Given the description of an element on the screen output the (x, y) to click on. 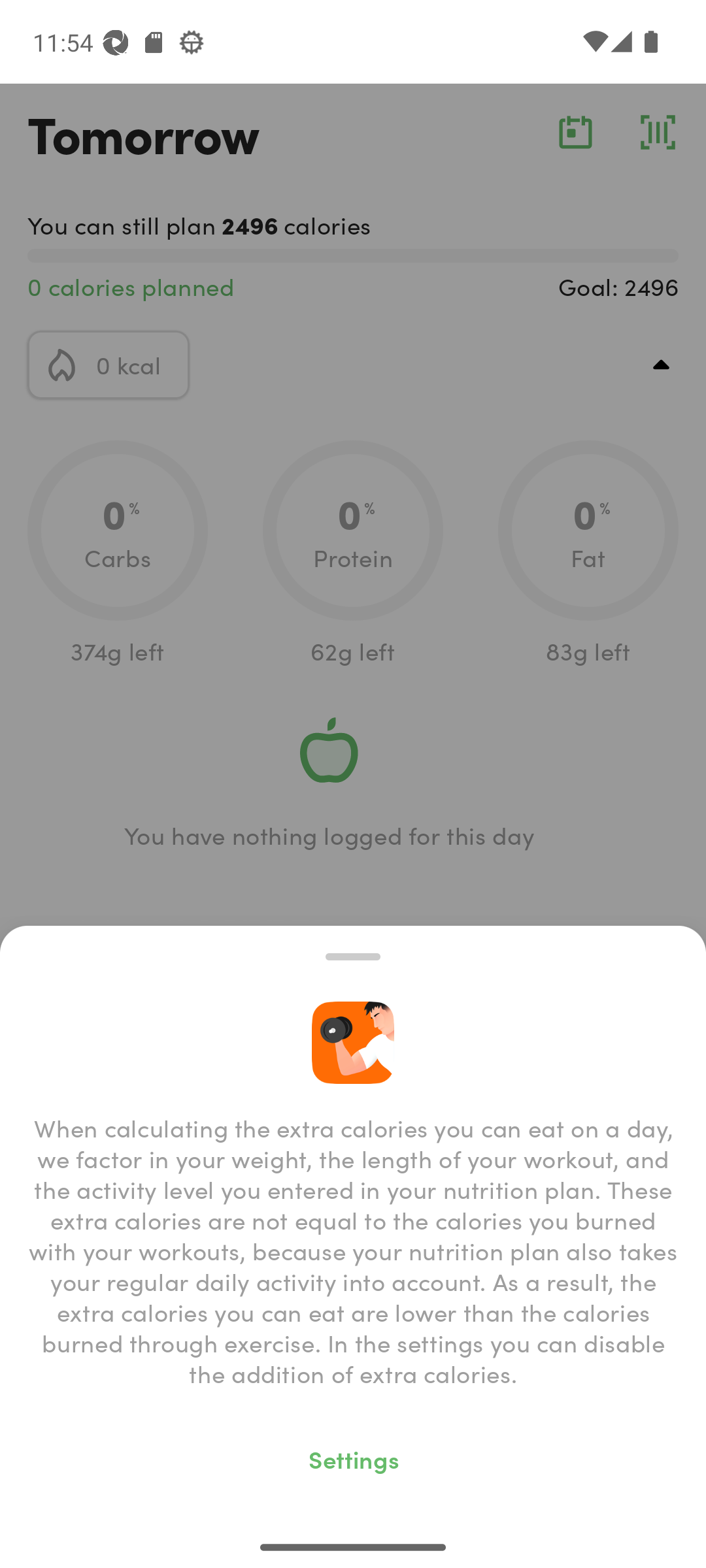
Settings (353, 1458)
